Given the description of an element on the screen output the (x, y) to click on. 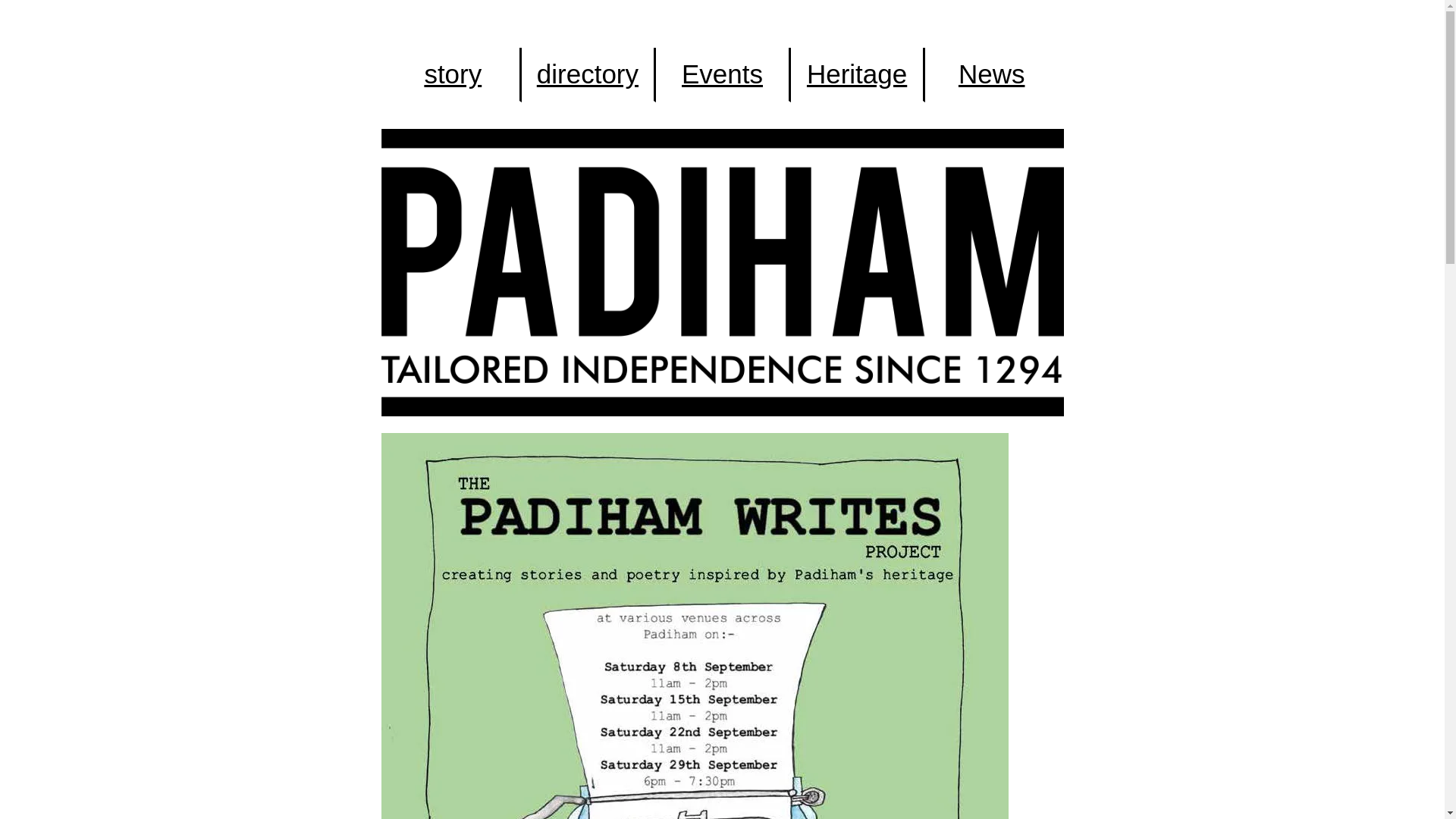
Events (722, 73)
News (991, 73)
Heritage (856, 73)
directory (587, 73)
story (453, 73)
